Given the description of an element on the screen output the (x, y) to click on. 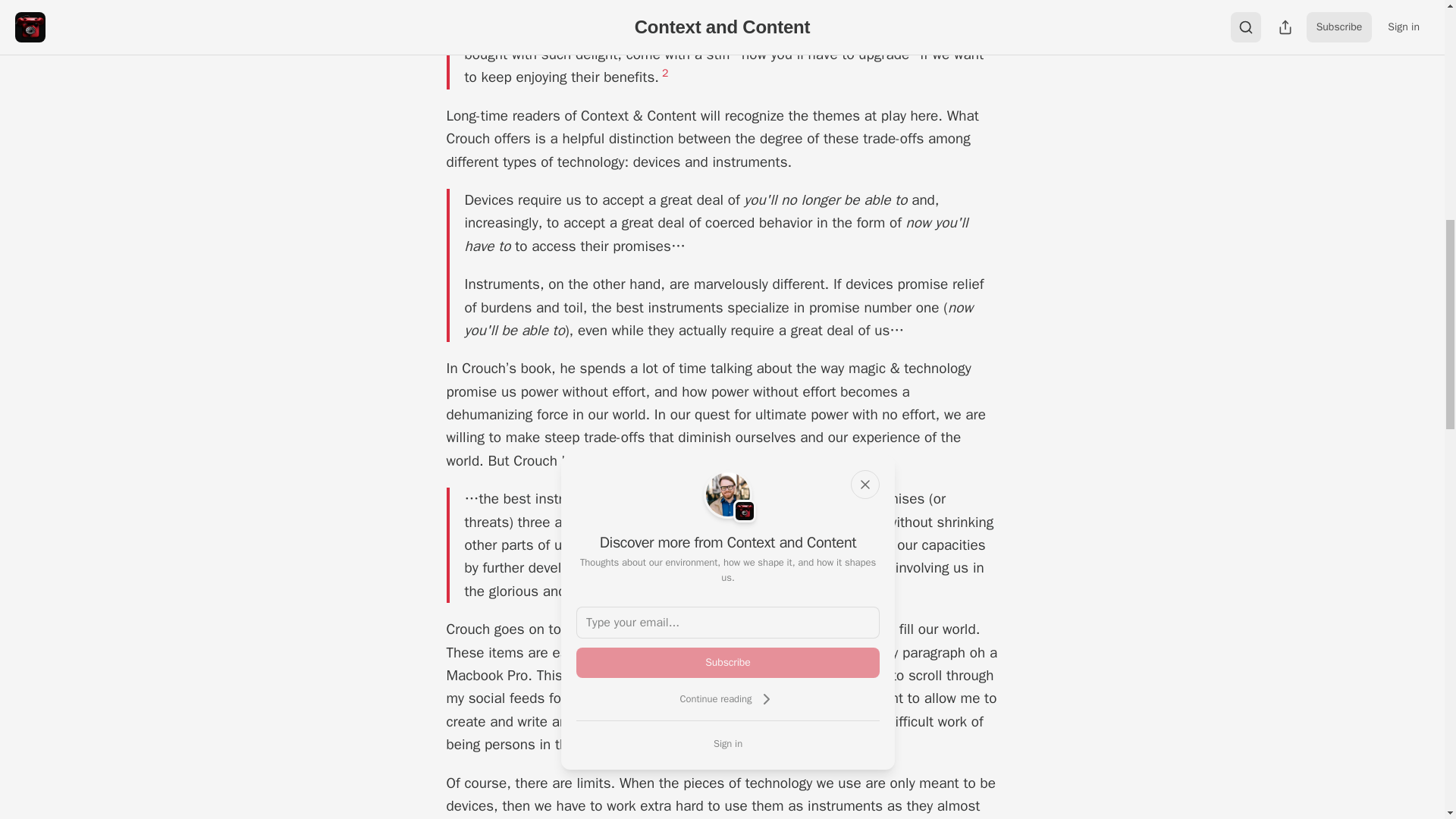
Subscribe (727, 662)
Sign in (727, 743)
